Given the description of an element on the screen output the (x, y) to click on. 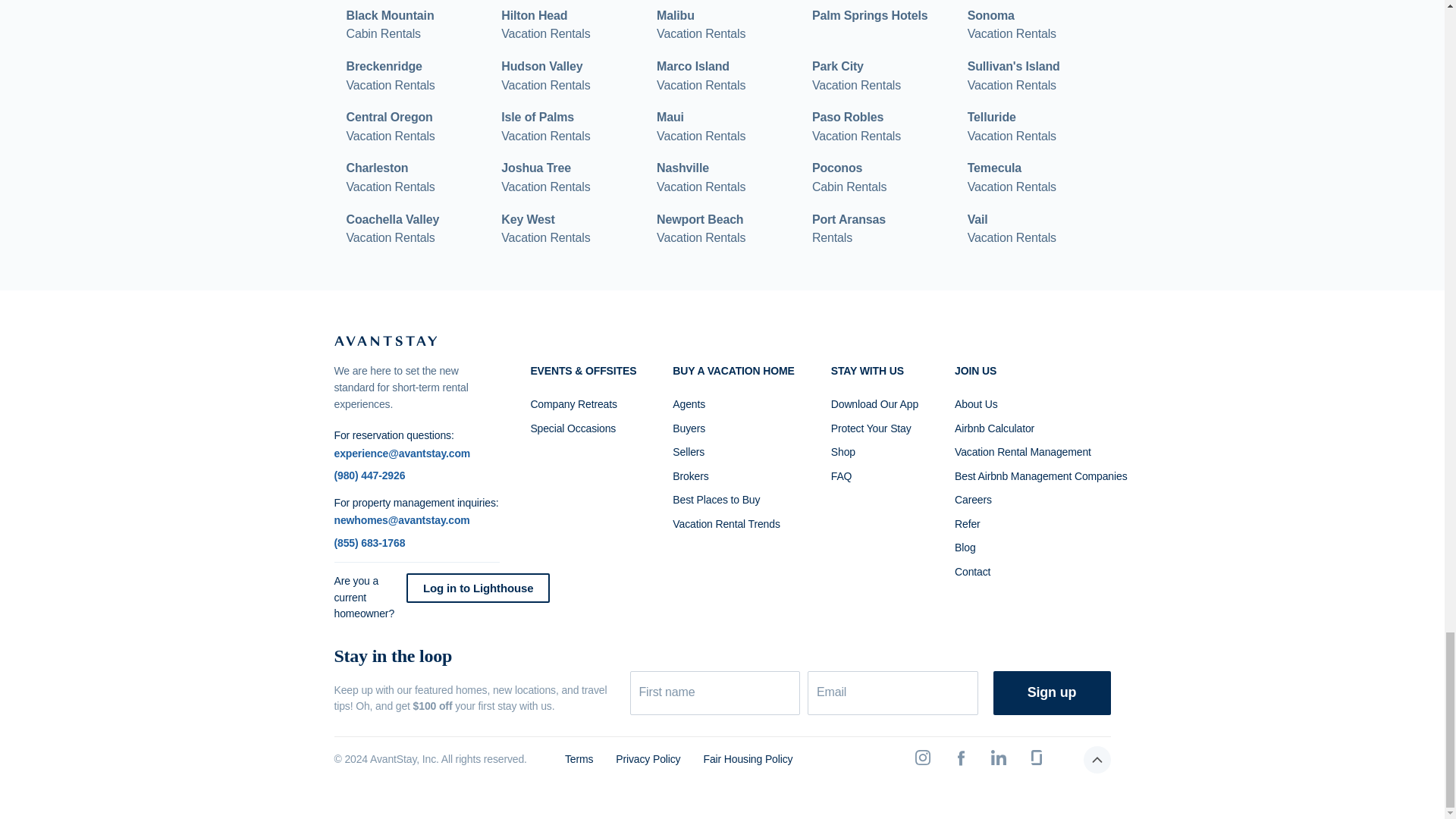
AvantStay Logo (700, 177)
Palm Springs Hotels (384, 340)
